Given the description of an element on the screen output the (x, y) to click on. 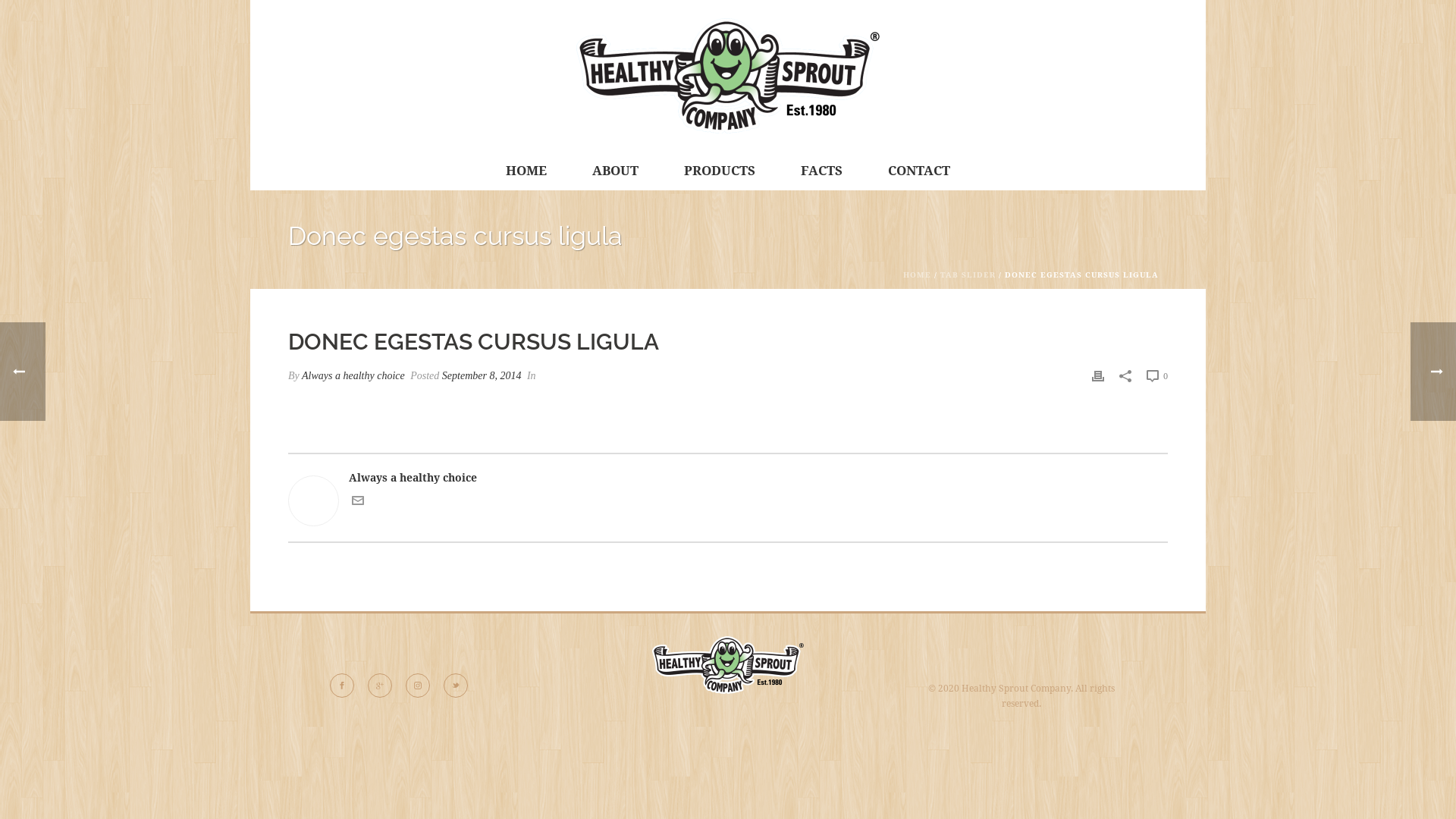
PRODUCTS Element type: text (719, 170)
CONTACT Element type: text (918, 170)
Healthy Sprout Company Element type: hover (727, 75)
Get in touch with me via email Element type: hover (357, 502)
TAB SLIDER Element type: text (967, 274)
HOME Element type: text (526, 170)
FACTS Element type: text (821, 170)
Always a healthy choice Element type: text (727, 477)
0 Element type: text (1156, 376)
Follow Us on googleplus Element type: hover (379, 685)
Always a healthy choice Element type: text (352, 375)
Follow Us on twitter Element type: hover (455, 685)
Print Element type: hover (1098, 375)
Follow Us on facebook Element type: hover (341, 685)
September 8, 2014 Element type: text (481, 375)
ABOUT Element type: text (615, 170)
HOME Element type: text (917, 274)
Follow Us on instagram Element type: hover (417, 685)
Always a healthy choice Element type: hover (727, 75)
